Given the description of an element on the screen output the (x, y) to click on. 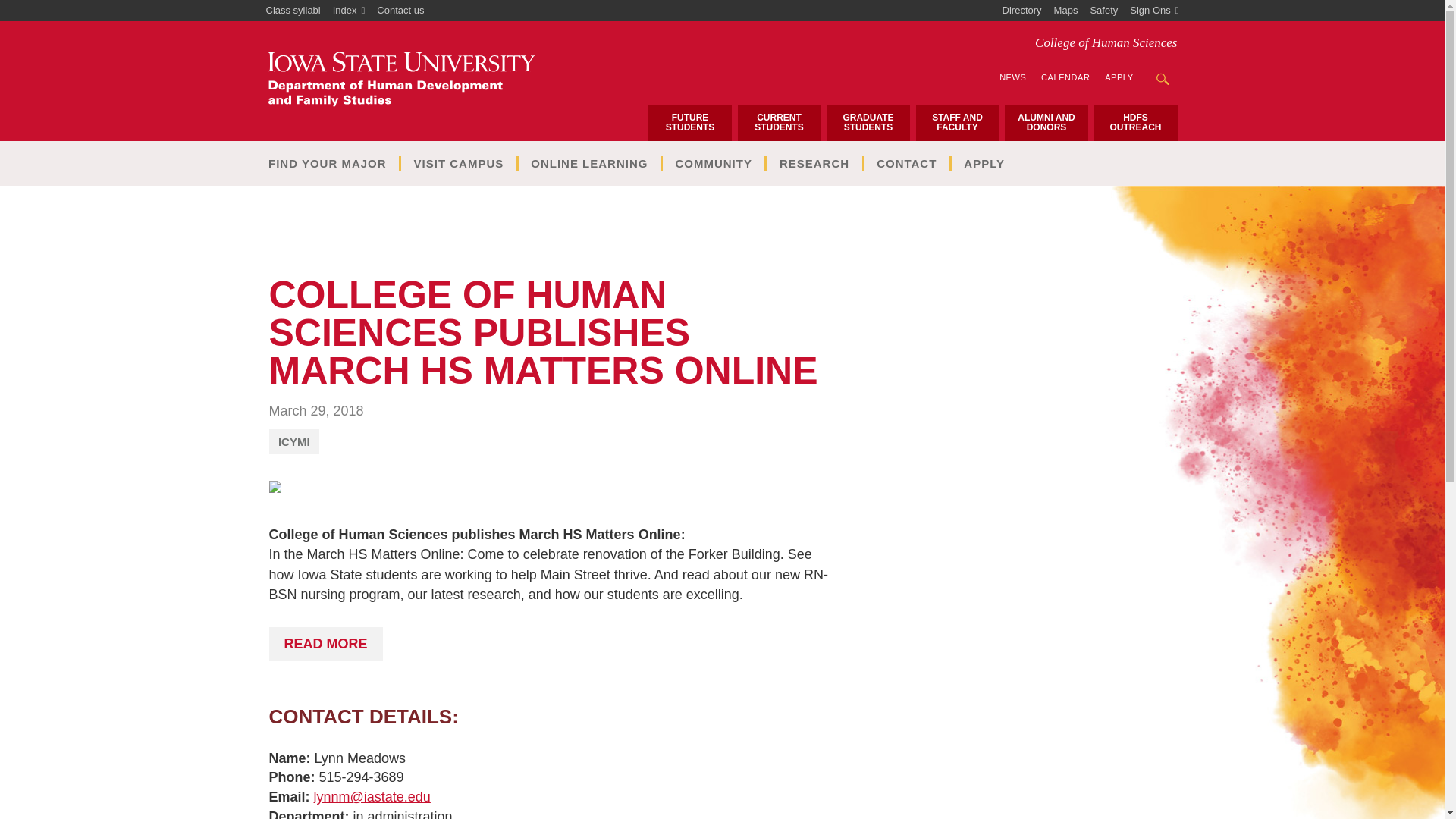
Index (348, 10)
Maps (1066, 10)
Safety (1103, 10)
Contact us (400, 10)
Sign Ons (1154, 10)
Class syllabi (292, 10)
Directory (1021, 10)
